Given the description of an element on the screen output the (x, y) to click on. 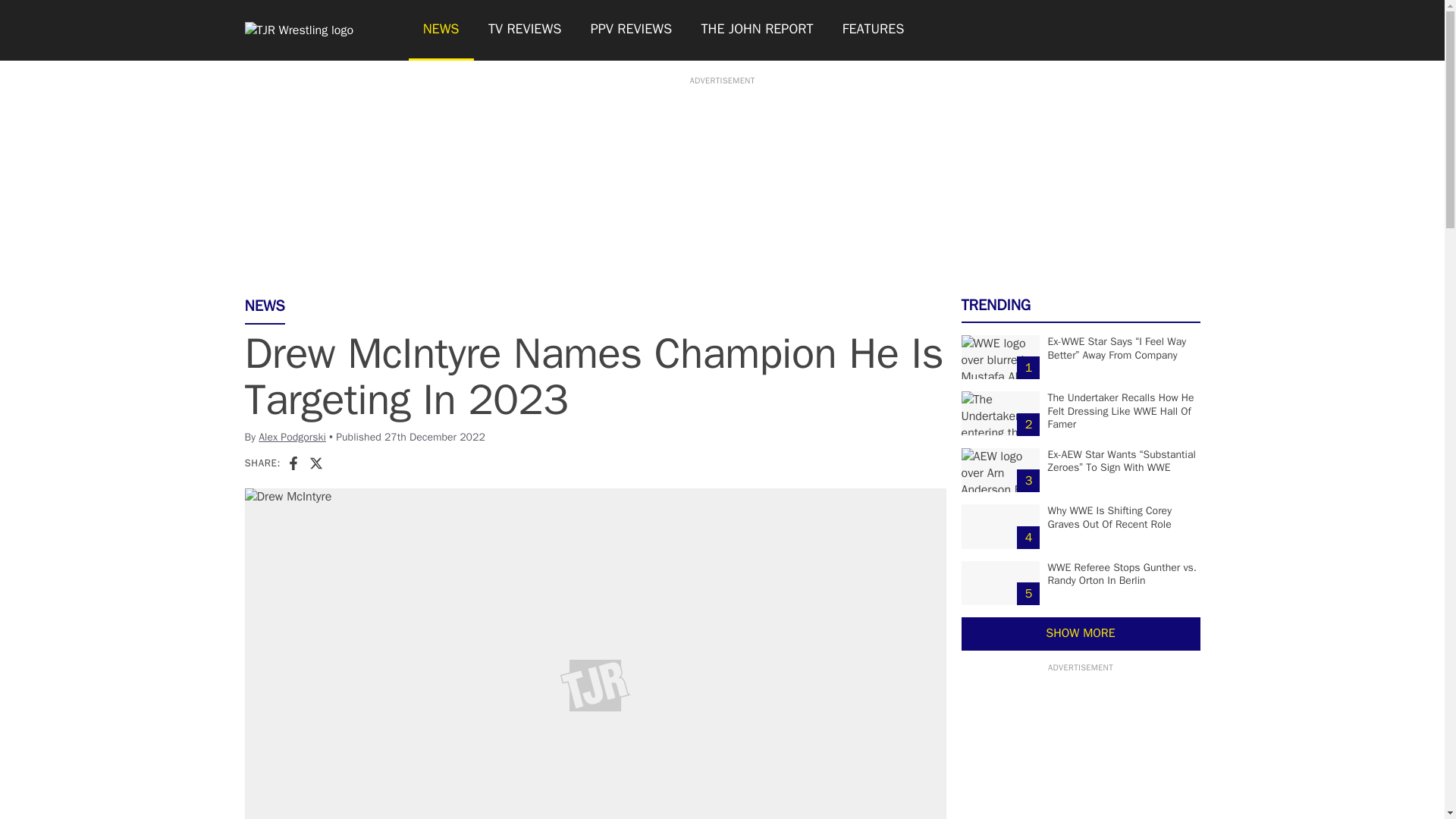
THE JOHN REPORT (756, 30)
Facebook (292, 462)
TV REVIEWS (525, 30)
NEWS (440, 30)
Facebook (292, 463)
PPV REVIEWS (631, 30)
X (315, 463)
Alex Podgorski (292, 436)
FEATURES (873, 30)
X (315, 462)
